Given the description of an element on the screen output the (x, y) to click on. 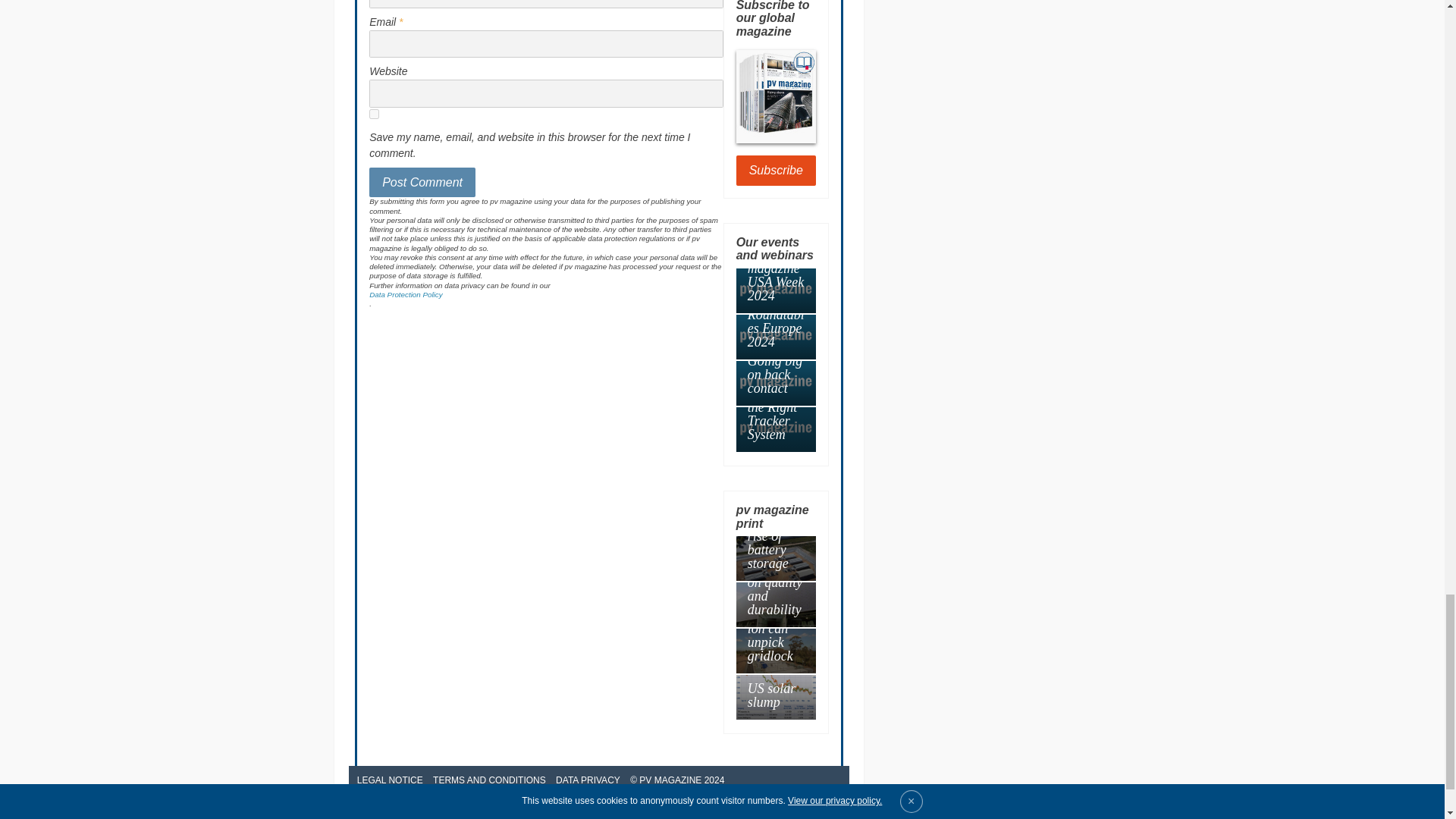
Post Comment (422, 182)
yes (373, 113)
